Given the description of an element on the screen output the (x, y) to click on. 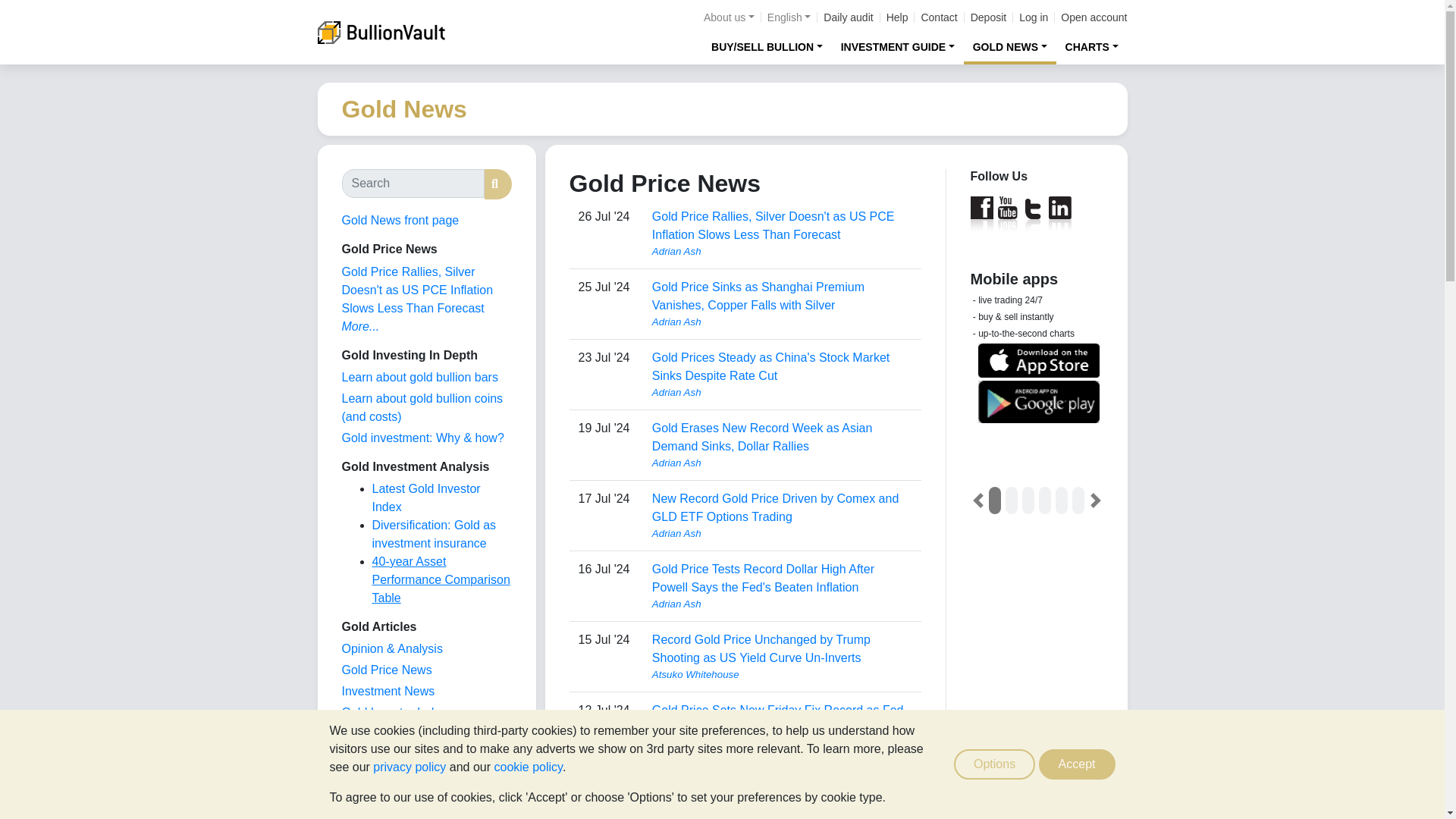
Log in (1033, 17)
Gold Infographics (387, 733)
Daily audit (848, 17)
Gold Price News (385, 669)
Contact (938, 17)
INVESTMENT GUIDE (897, 46)
View user profile. (782, 392)
Options (994, 764)
View user profile. (782, 462)
About us (728, 17)
View user profile. (782, 251)
Accept (1077, 764)
The View from the Vault (391, 648)
View user profile. (782, 604)
privacy policy (408, 766)
